Given the description of an element on the screen output the (x, y) to click on. 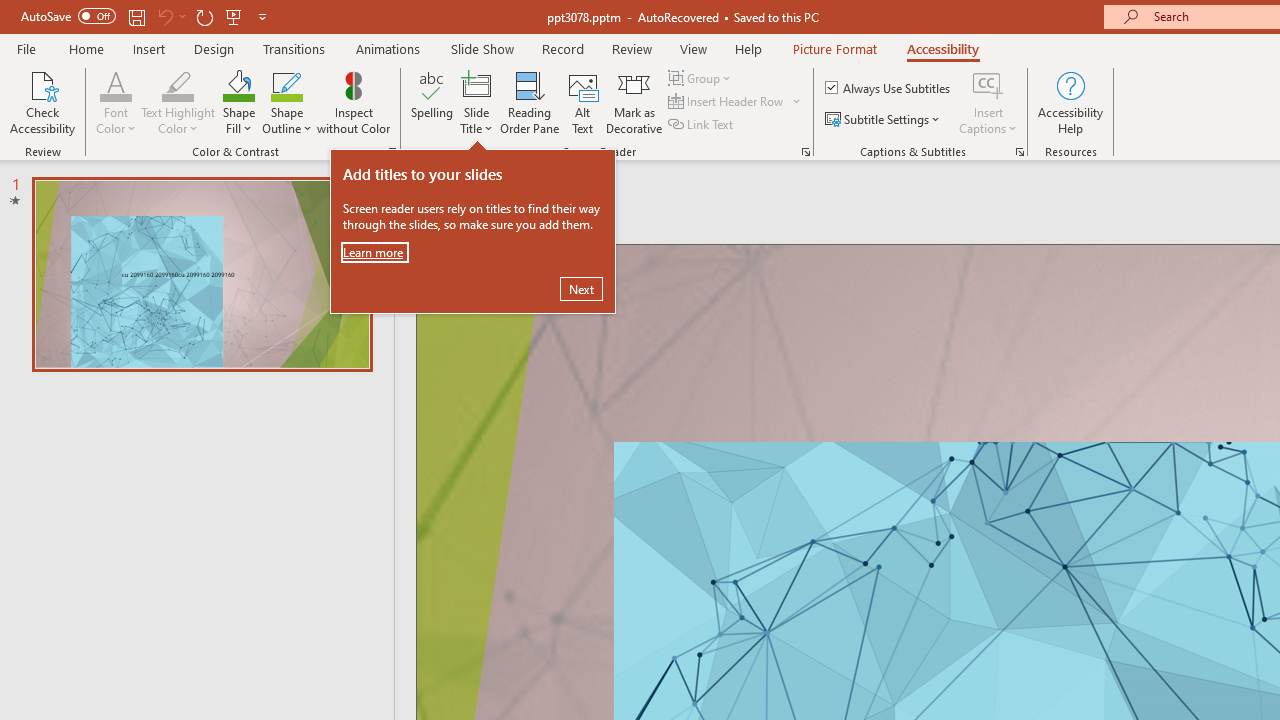
Inspect without Color (353, 102)
Spelling... (432, 102)
Shape Fill Dark Green, Accent 2 (238, 84)
Insert Header Row (727, 101)
Picture Format (834, 48)
Captions & Subtitles (1019, 151)
